Given the description of an element on the screen output the (x, y) to click on. 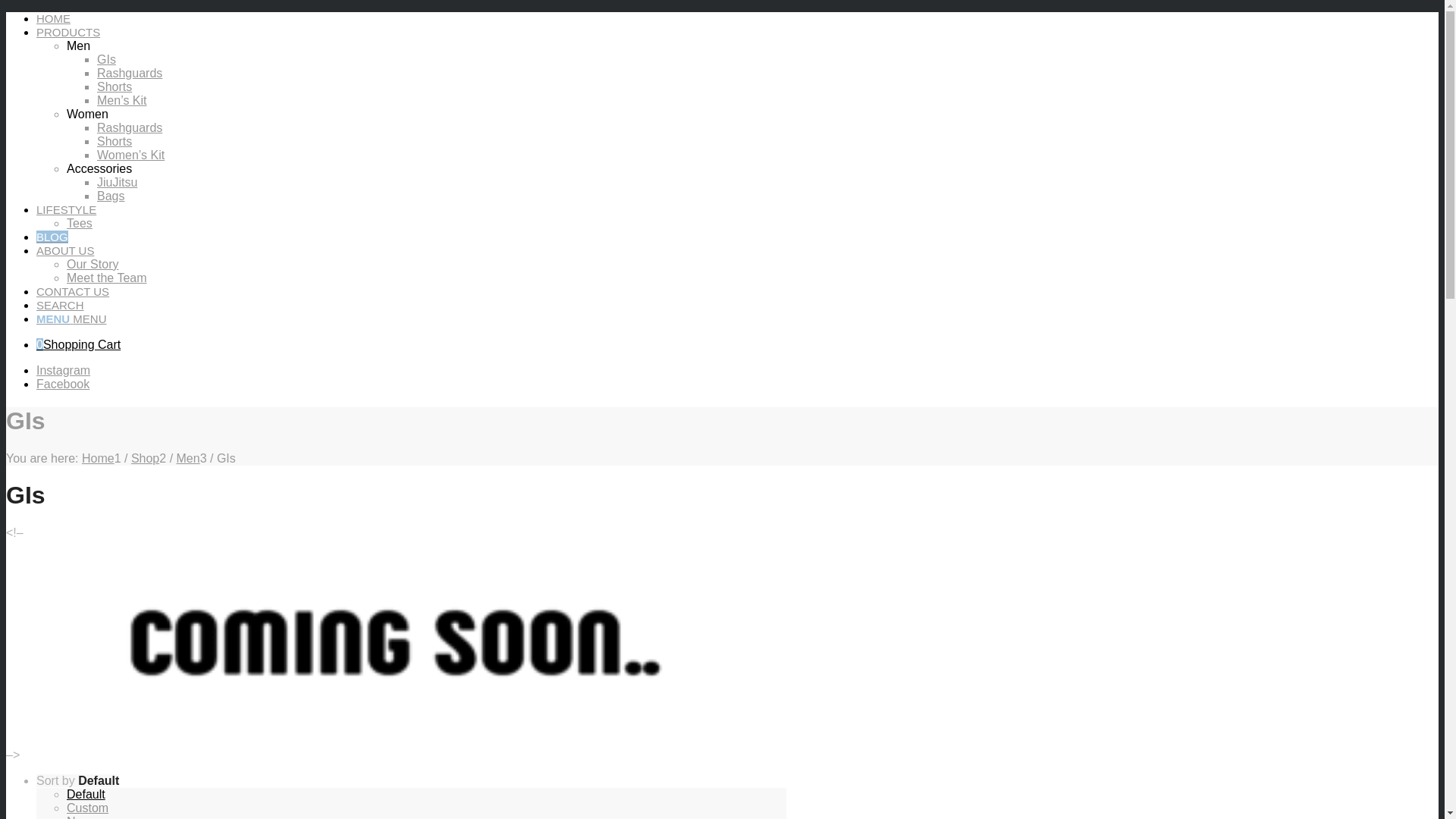
CONTACT US Element type: text (72, 291)
GIs Element type: text (106, 59)
JiuJitsu Element type: text (117, 181)
Bags Element type: text (110, 195)
LIFESTYLE Element type: text (66, 209)
Shorts Element type: text (114, 140)
Custom Element type: text (87, 807)
Rashguards Element type: text (129, 72)
Shorts Element type: text (114, 86)
Men Element type: text (188, 457)
HOME Element type: text (53, 18)
Shop Element type: text (145, 457)
Default Element type: text (85, 793)
MENU MENU Element type: text (71, 318)
Rashguards Element type: text (129, 127)
Facebook Element type: text (62, 383)
Our Story Element type: text (92, 263)
0Shopping Cart Element type: text (78, 344)
BLOG Element type: text (52, 236)
Home Element type: text (97, 457)
ABOUT US Element type: text (65, 250)
PRODUCTS Element type: text (68, 31)
SEARCH Element type: text (60, 304)
Meet the Team Element type: text (106, 277)
Tees Element type: text (79, 222)
Instagram Element type: text (63, 370)
